Given the description of an element on the screen output the (x, y) to click on. 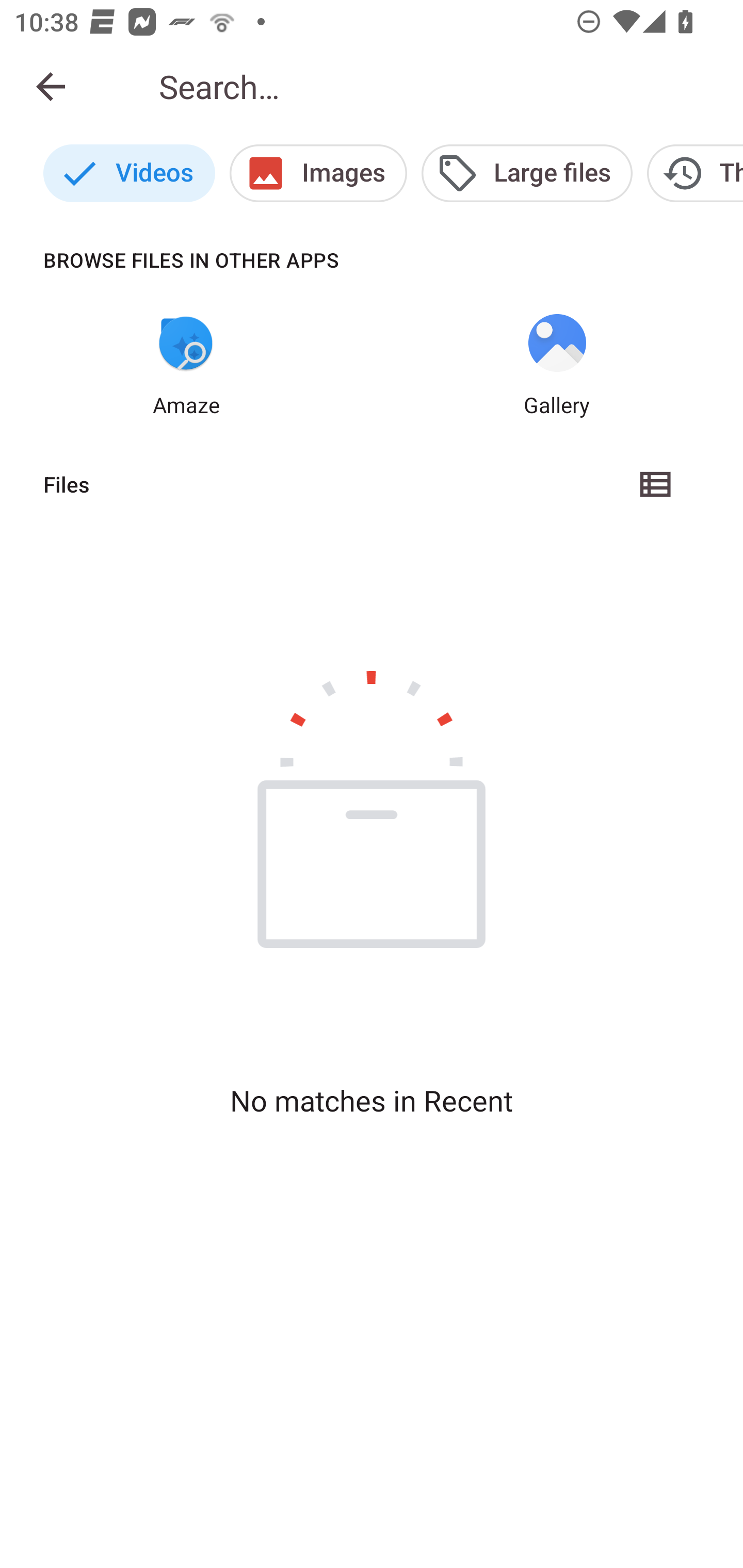
Back (50, 86)
Search… (436, 86)
Videos (129, 173)
Images (318, 173)
Large files (526, 173)
This week (695, 173)
Amaze (185, 365)
Gallery (557, 365)
List view (655, 484)
